Given the description of an element on the screen output the (x, y) to click on. 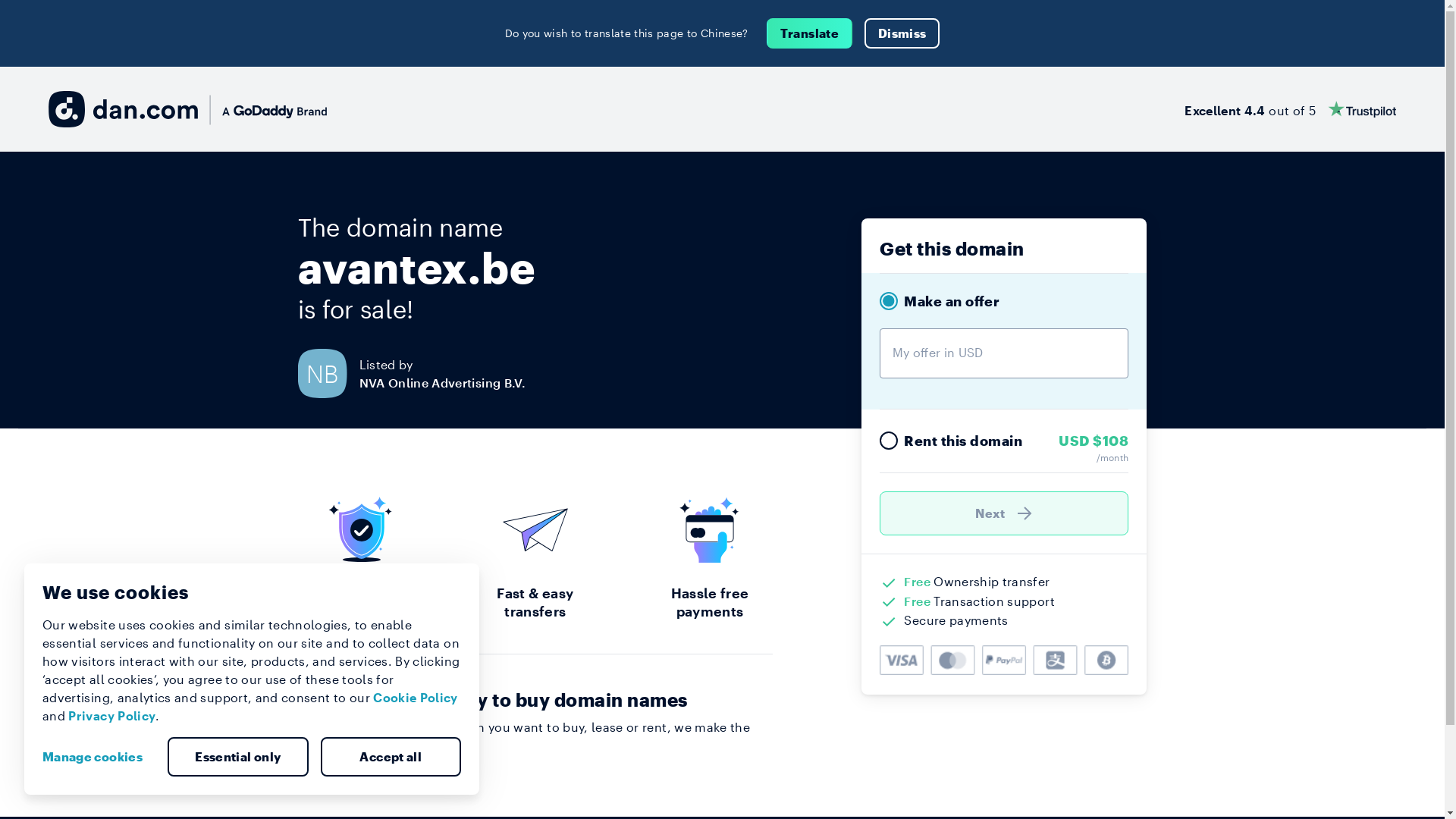
Essential only Element type: text (237, 756)
Dismiss Element type: text (901, 33)
Next
) Element type: text (1003, 513)
Accept all Element type: text (390, 756)
Manage cookies Element type: text (98, 756)
Translate Element type: text (809, 33)
Cookie Policy Element type: text (415, 697)
Excellent 4.4 out of 5 Element type: text (1290, 109)
Privacy Policy Element type: text (111, 715)
